Given the description of an element on the screen output the (x, y) to click on. 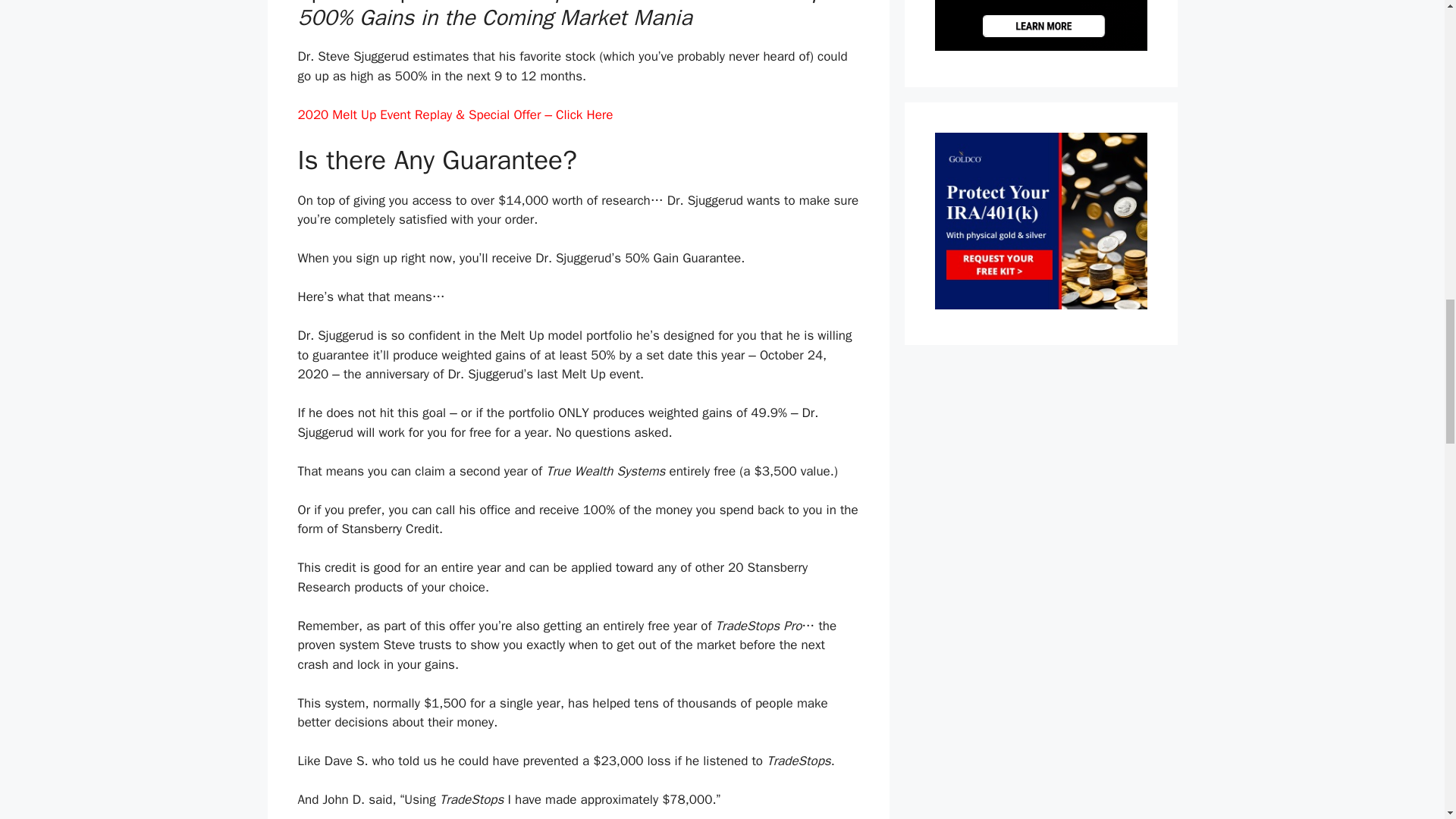
Porter Stansberry Energy Grid (1040, 46)
FREE 2024 GOLD IRA KIT (1040, 304)
